Given the description of an element on the screen output the (x, y) to click on. 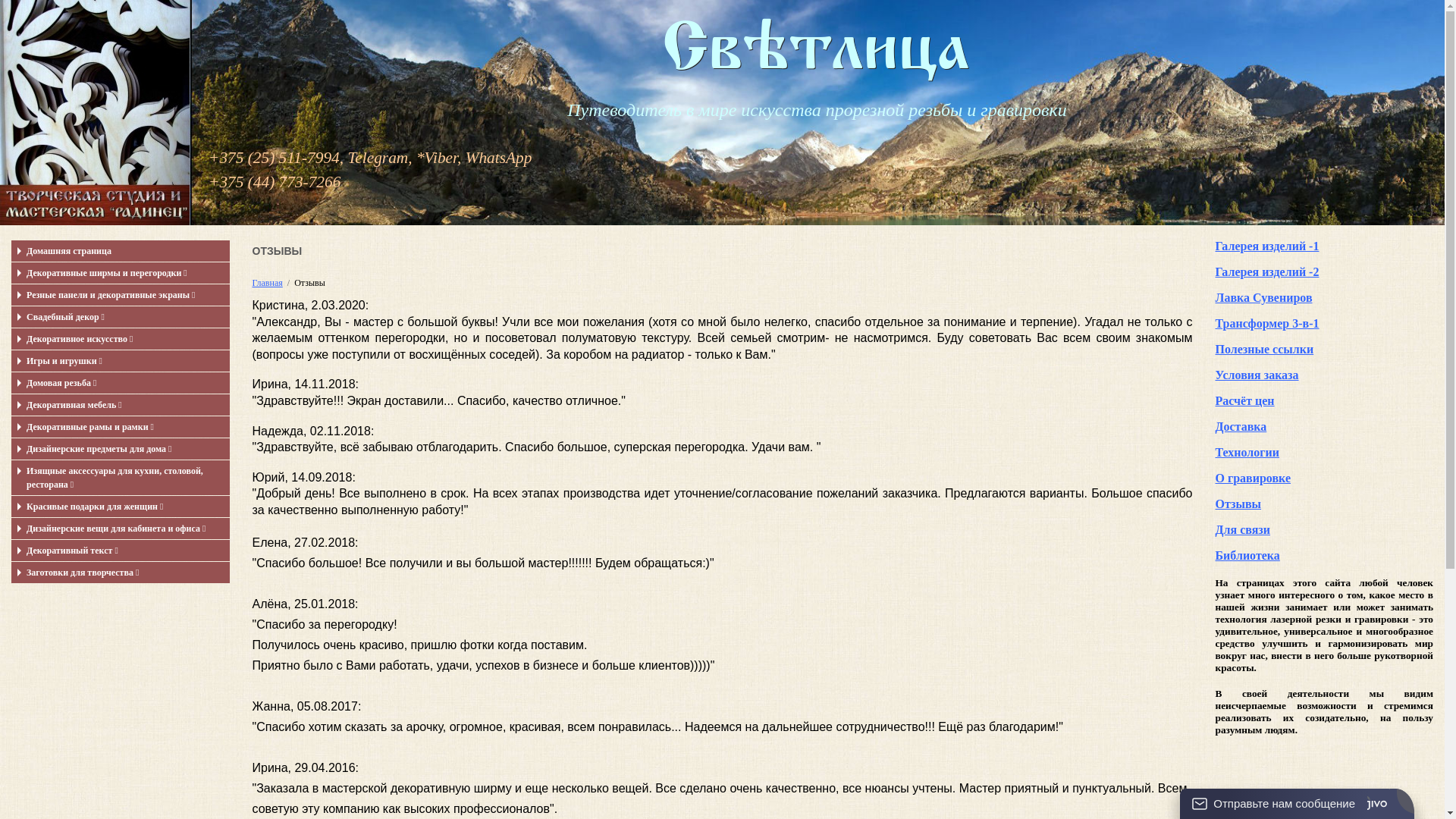
WhatsApp Element type: text (498, 157)
+375 (44) 773-7266 Element type: text (274, 181)
+375 (25) 511-7994, Telegram, Element type: text (310, 157)
Viber Element type: text (440, 157)
* Element type: text (420, 157)
